Given the description of an element on the screen output the (x, y) to click on. 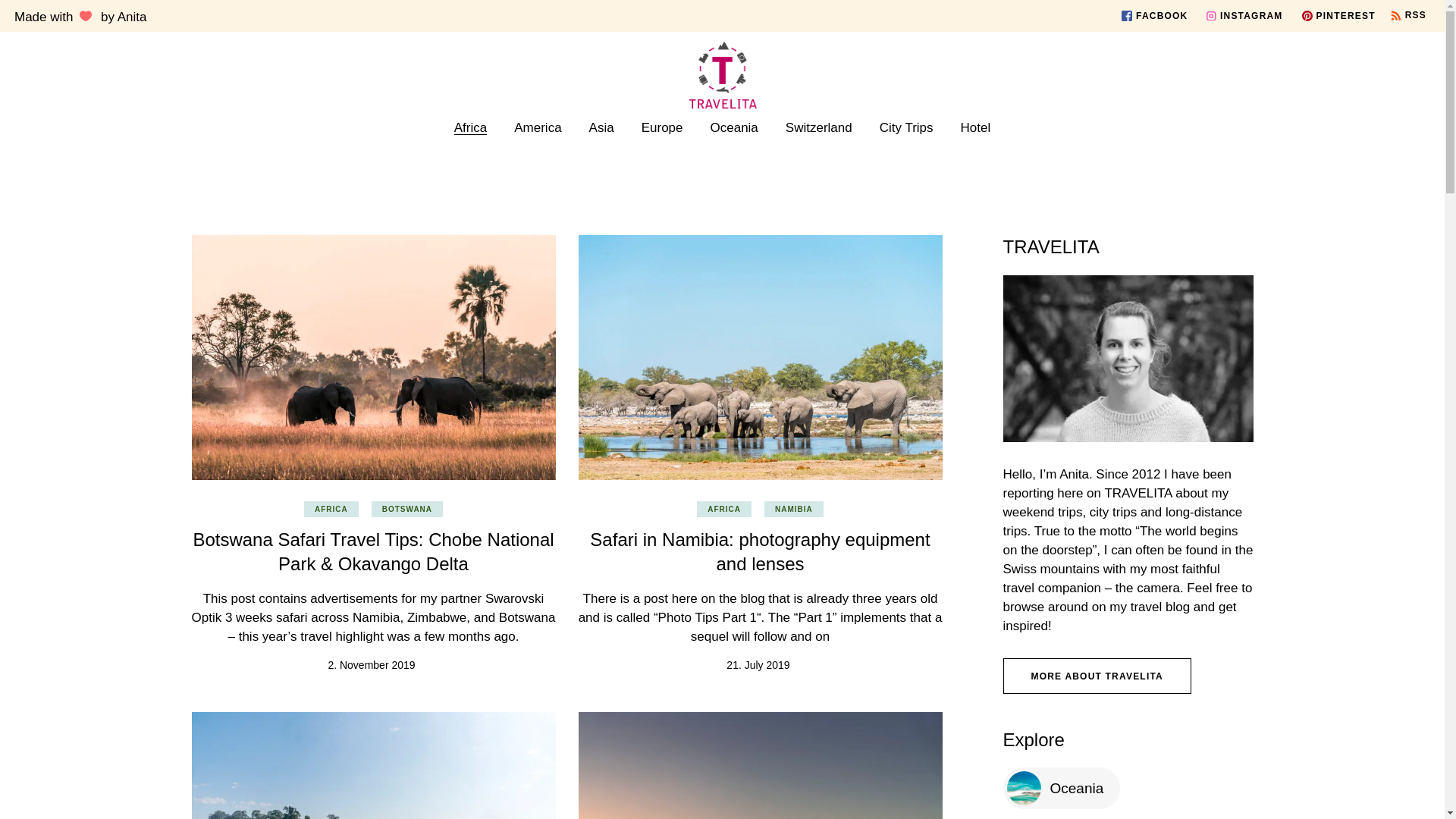
INSTAGRAM (1246, 15)
RSS (1409, 18)
PINTEREST (1338, 15)
Europe (662, 127)
FACBOOK (1156, 15)
Africa (470, 127)
Asia (601, 127)
America (536, 127)
